Given the description of an element on the screen output the (x, y) to click on. 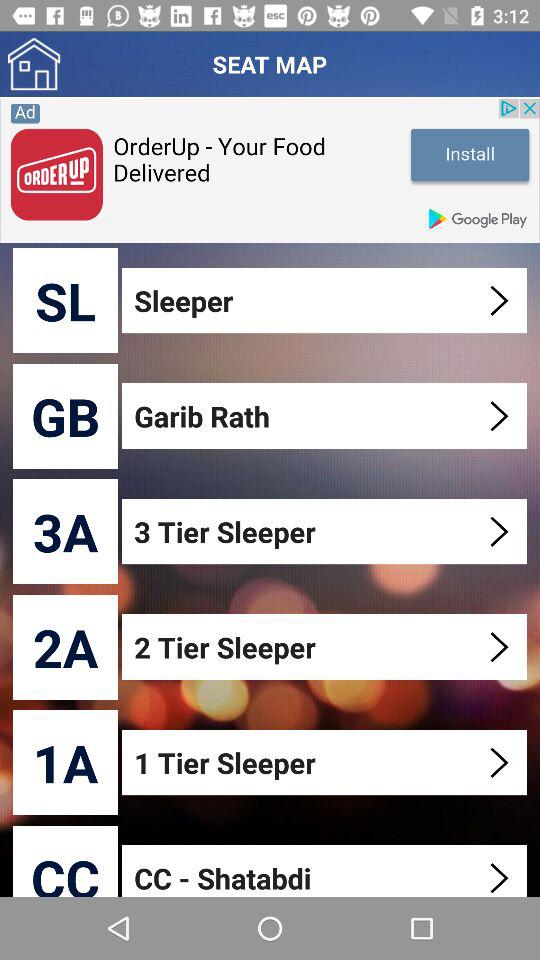
open the item above the 1a (65, 646)
